Given the description of an element on the screen output the (x, y) to click on. 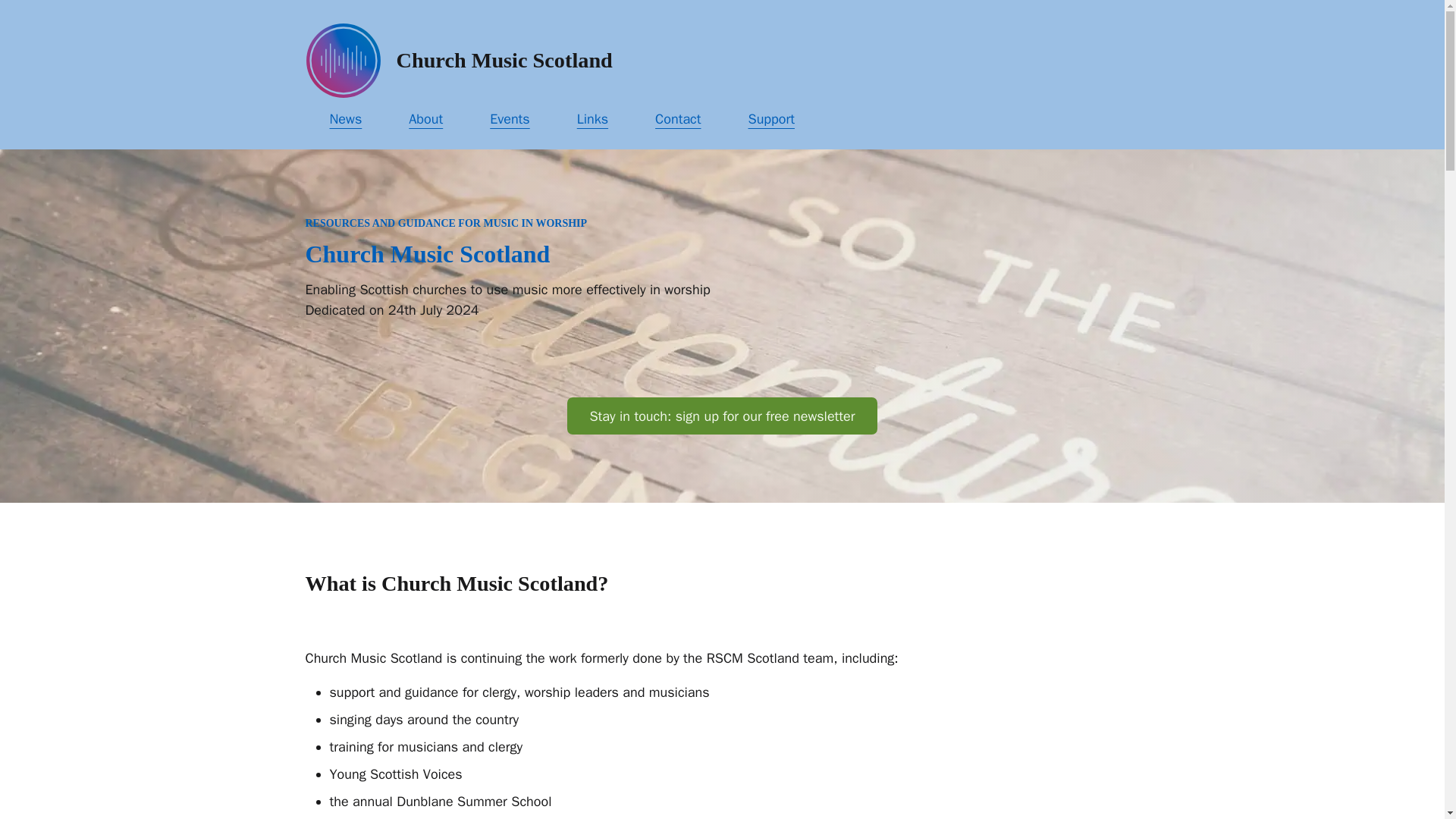
Events (509, 118)
Church Music Scotland (503, 60)
We care about privacy and promise we won't spam you! (721, 415)
Support (770, 118)
Stay in touch: sign up for our free newsletter (721, 415)
Contact (677, 118)
